Given the description of an element on the screen output the (x, y) to click on. 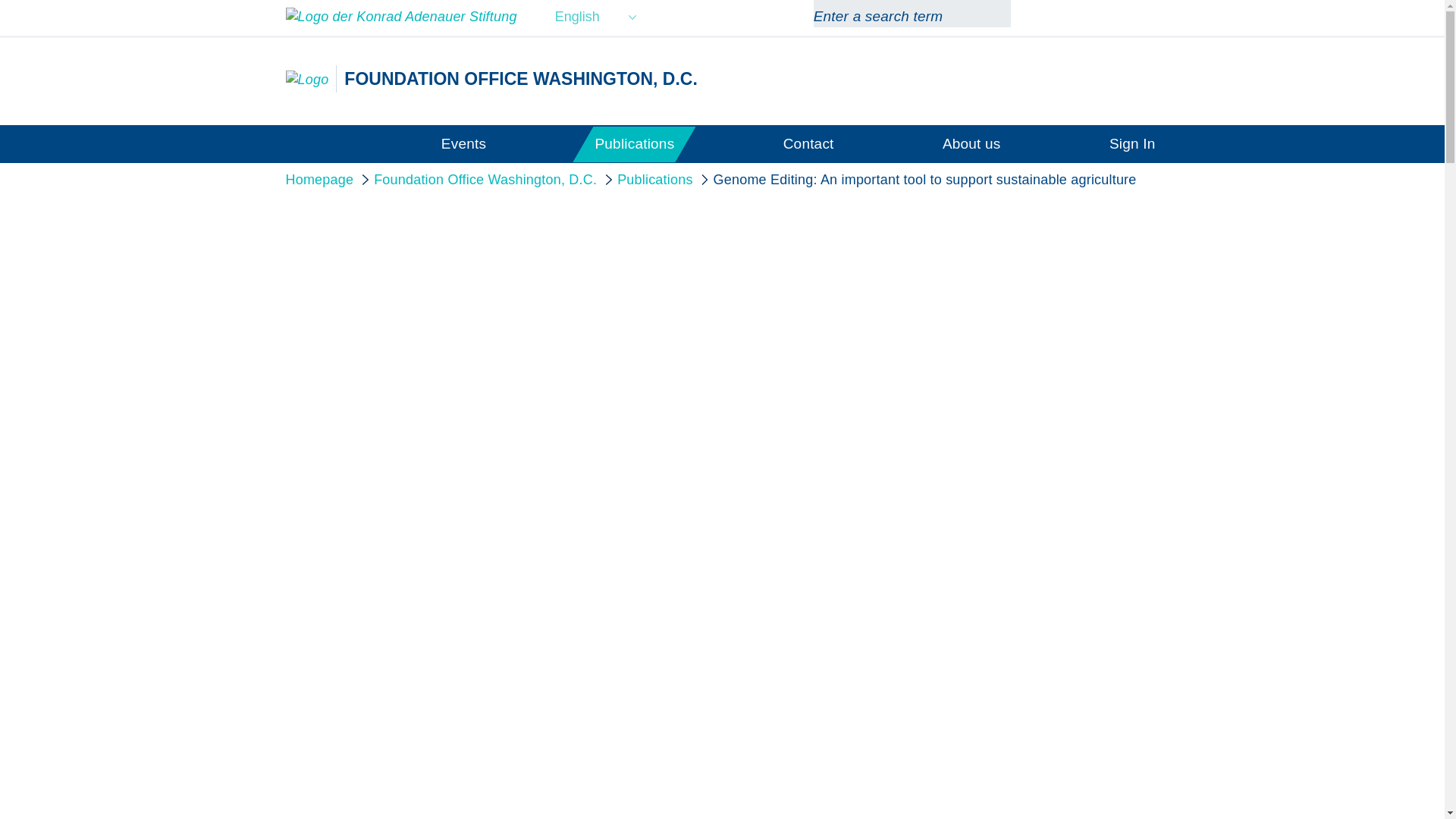
Events (463, 142)
Sign In (1132, 142)
Youtube (1095, 16)
Foundation Office Washington, D.C. (307, 78)
Twitter (1122, 16)
Skip to Main Content (3, 3)
Youtube (1095, 17)
Facebook (1068, 16)
Facebook (1068, 17)
About us (971, 142)
Twitter (1122, 17)
LinkedIn (1149, 16)
Contact (808, 142)
Publications (634, 142)
LinkedIn (1149, 17)
